Given the description of an element on the screen output the (x, y) to click on. 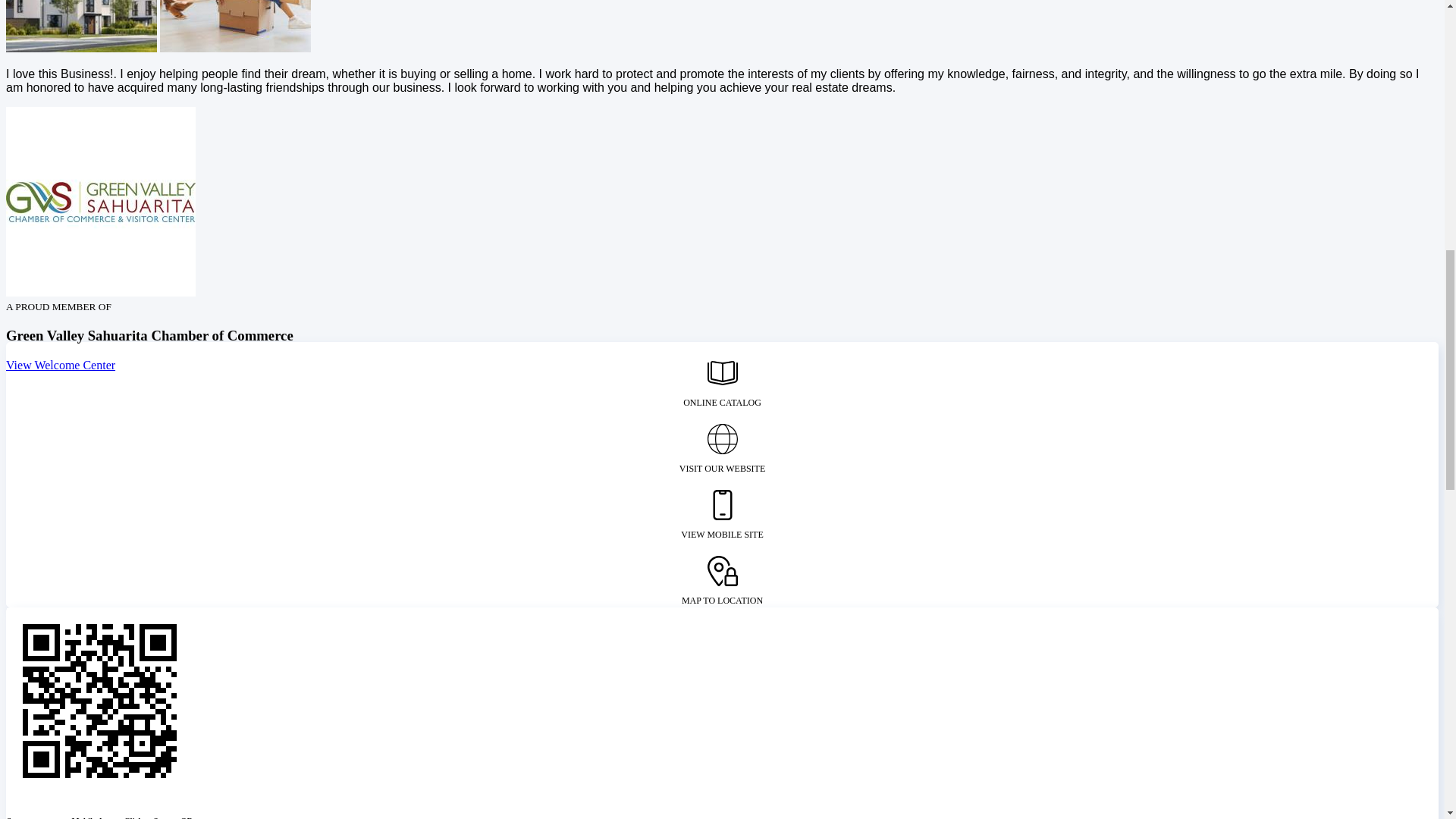
View Welcome Center (60, 364)
